Given the description of an element on the screen output the (x, y) to click on. 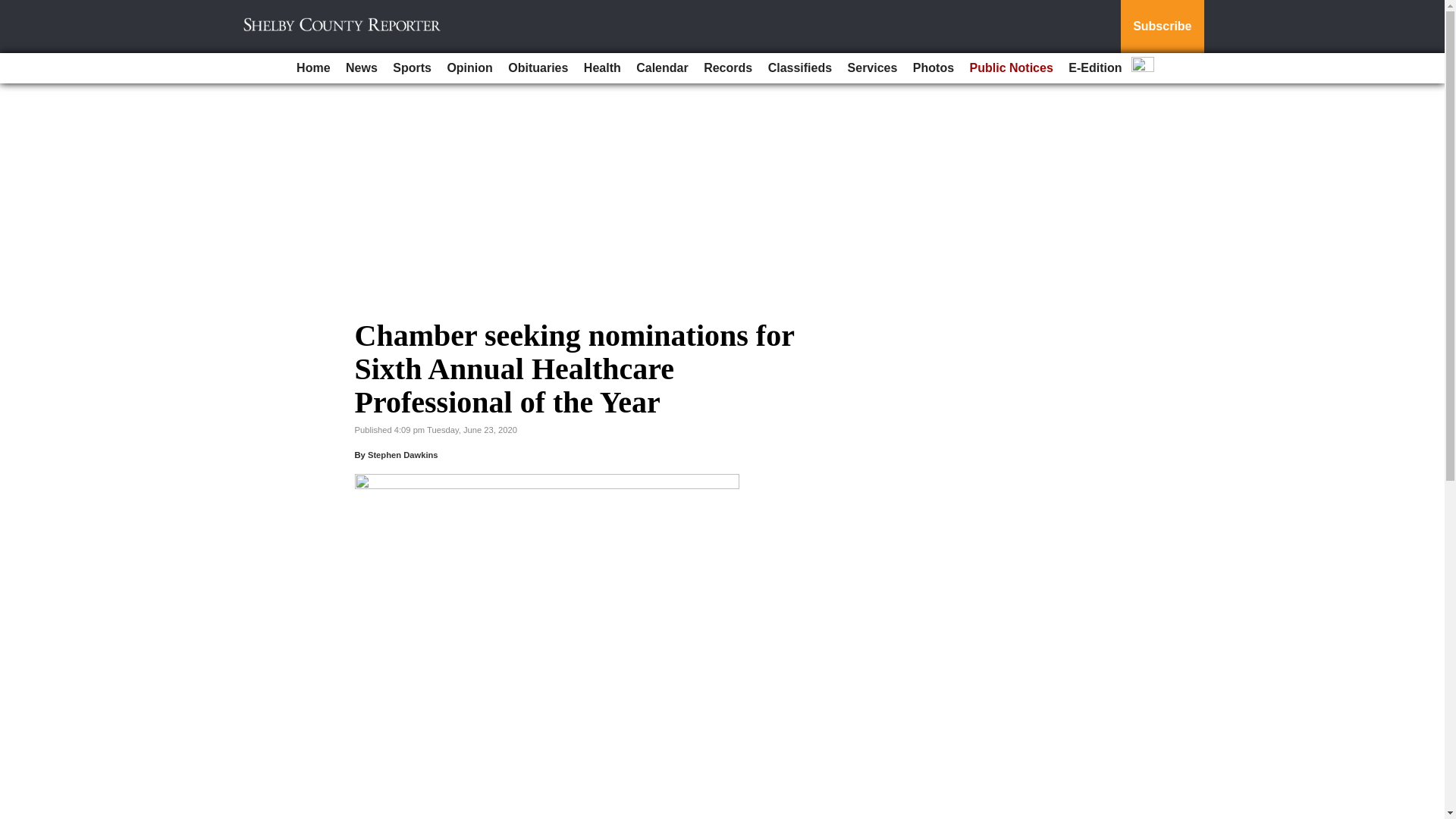
Health (602, 68)
Home (312, 68)
Subscribe (1162, 26)
Opinion (469, 68)
Classifieds (799, 68)
News (361, 68)
Services (872, 68)
Records (727, 68)
Obituaries (537, 68)
Sports (412, 68)
